Given the description of an element on the screen output the (x, y) to click on. 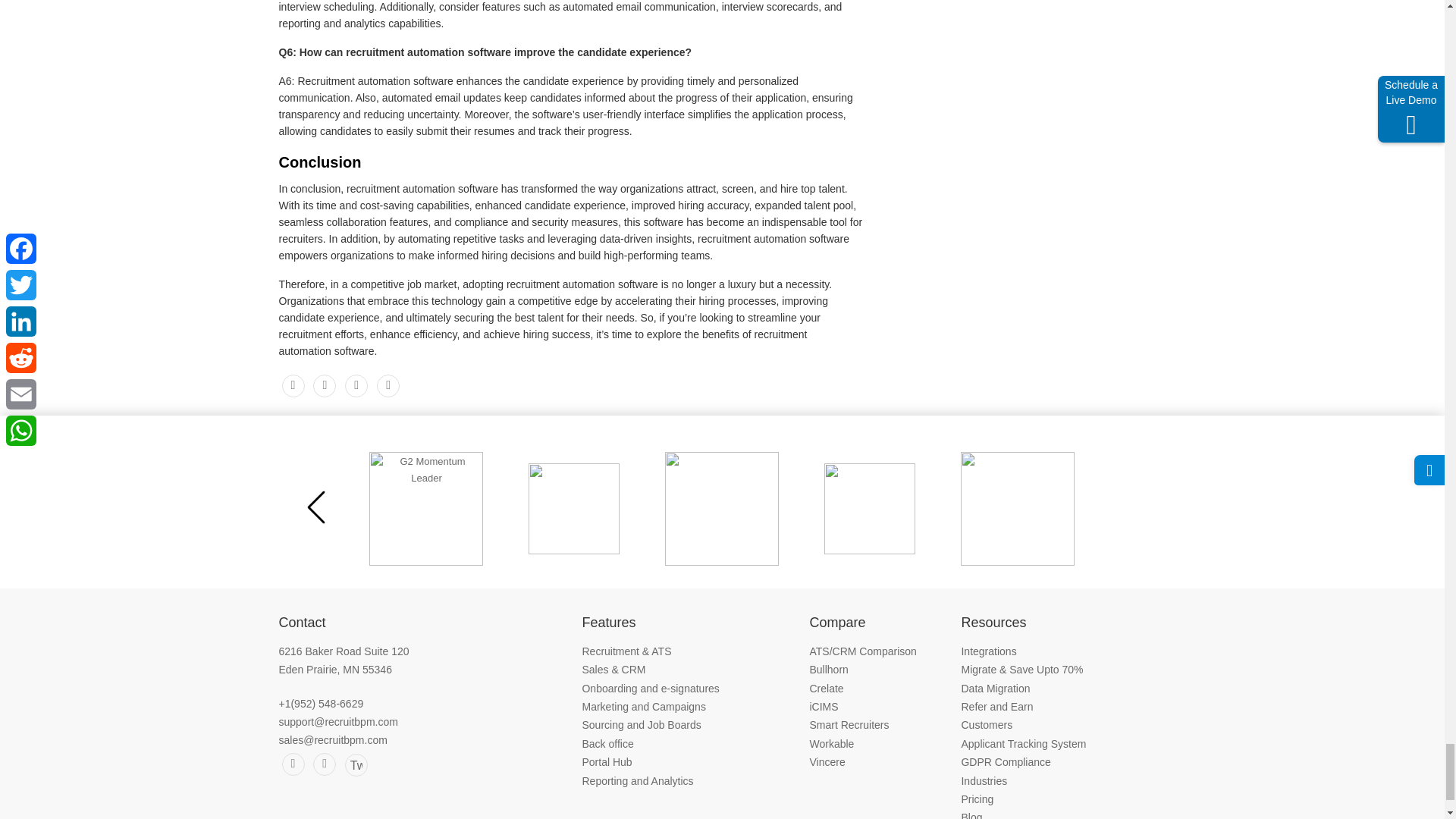
G2 Momentum Leader (426, 508)
